Given the description of an element on the screen output the (x, y) to click on. 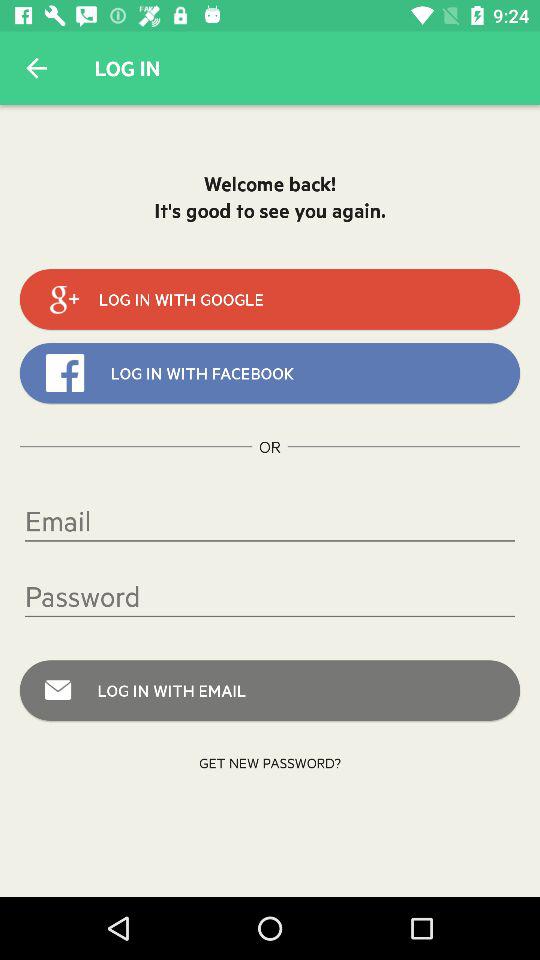
click the icon above log in with icon (269, 596)
